Given the description of an element on the screen output the (x, y) to click on. 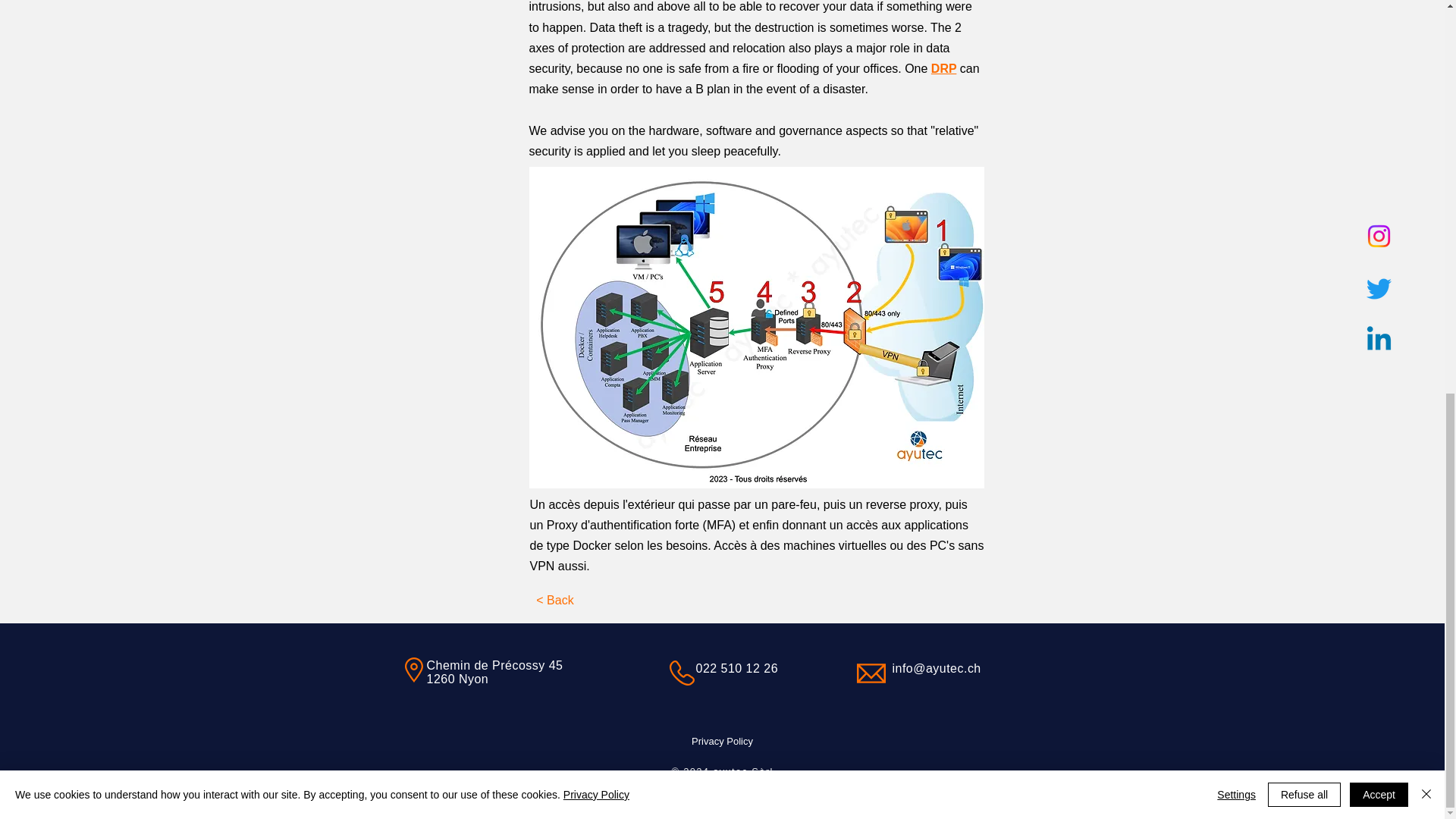
Accept (1378, 37)
Privacy Policy (595, 37)
DRP  (945, 68)
022 510 12 26 (736, 667)
Refuse all (1304, 37)
Privacy Policy (721, 740)
